Given the description of an element on the screen output the (x, y) to click on. 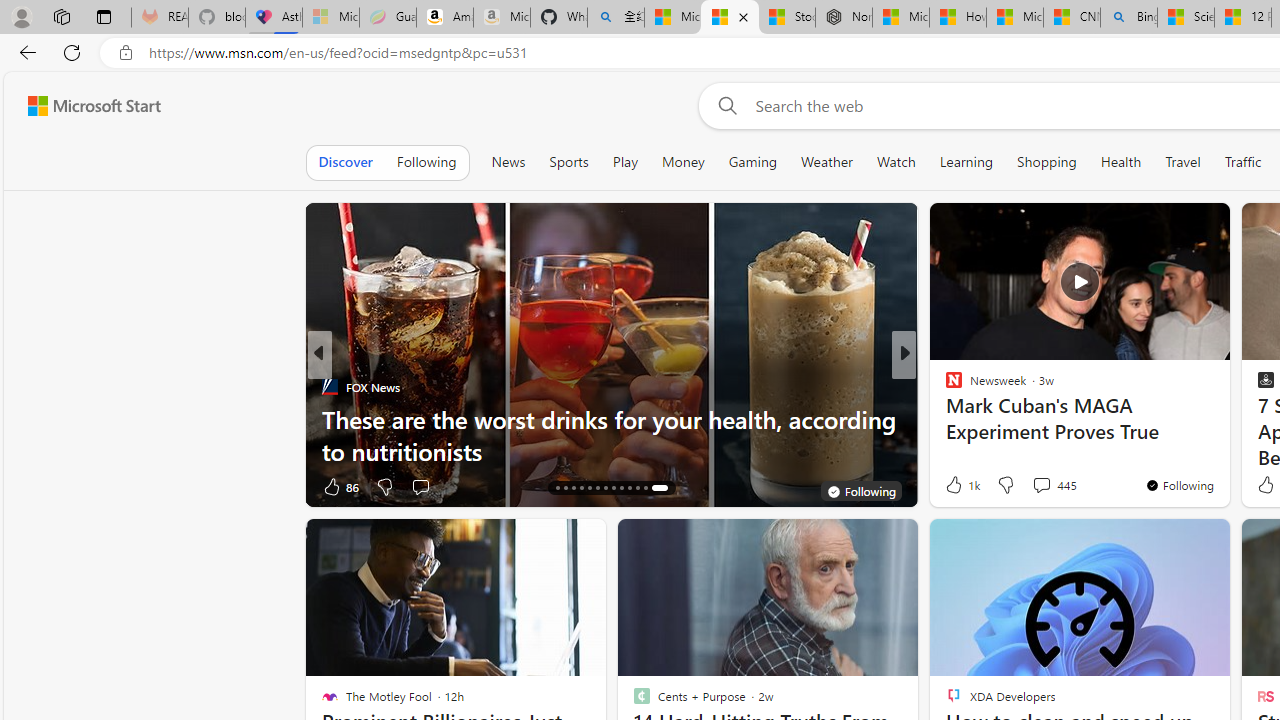
AutomationID: tab-19 (596, 487)
1k Like (961, 484)
CNN - MSN (1071, 17)
